Given the description of an element on the screen output the (x, y) to click on. 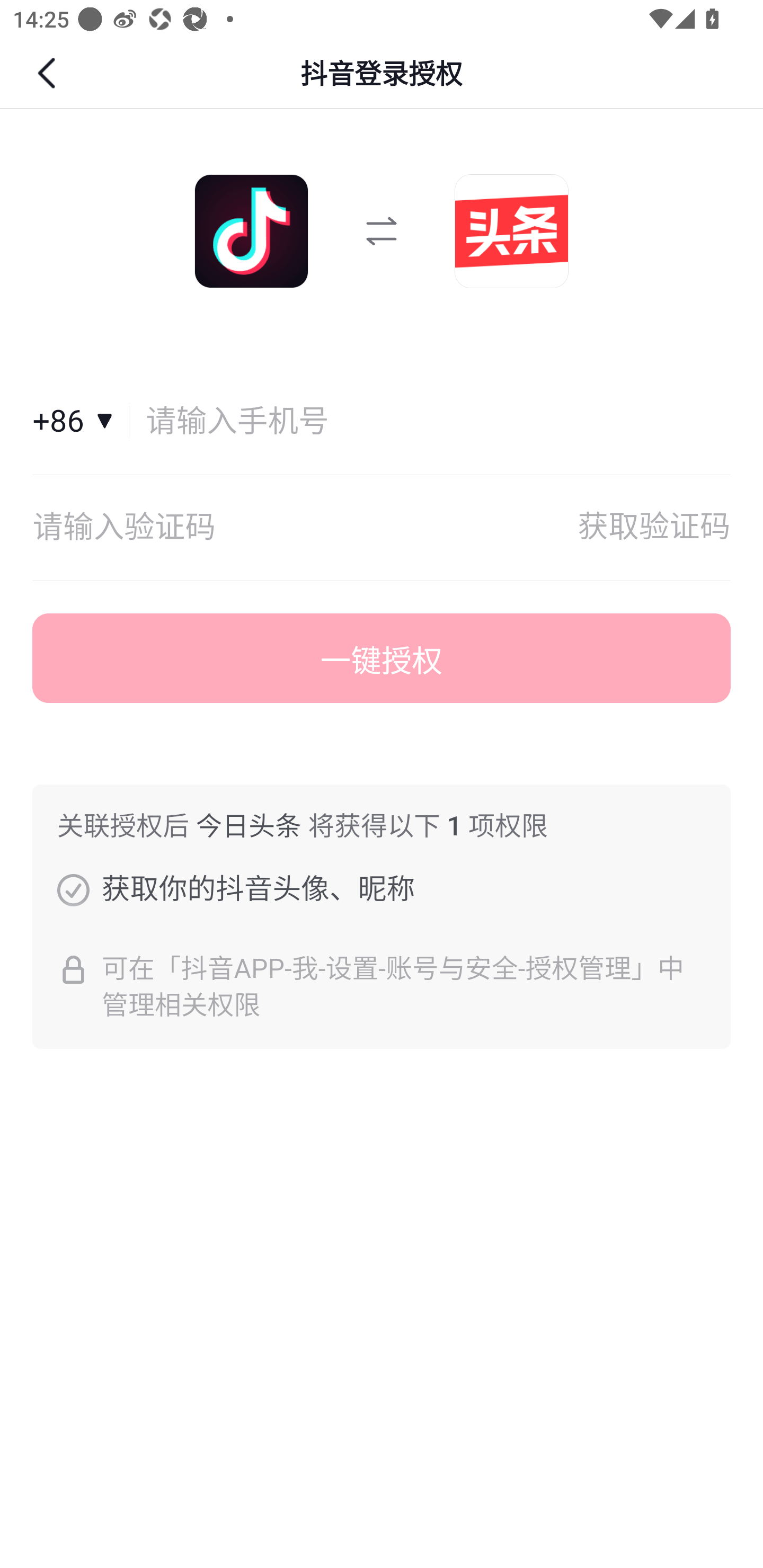
返回 (49, 72)
国家和地区+86 (81, 421)
获取验证码 (653, 527)
一键授权 (381, 658)
获取你的抖音头像、昵称 (72, 889)
